Given the description of an element on the screen output the (x, y) to click on. 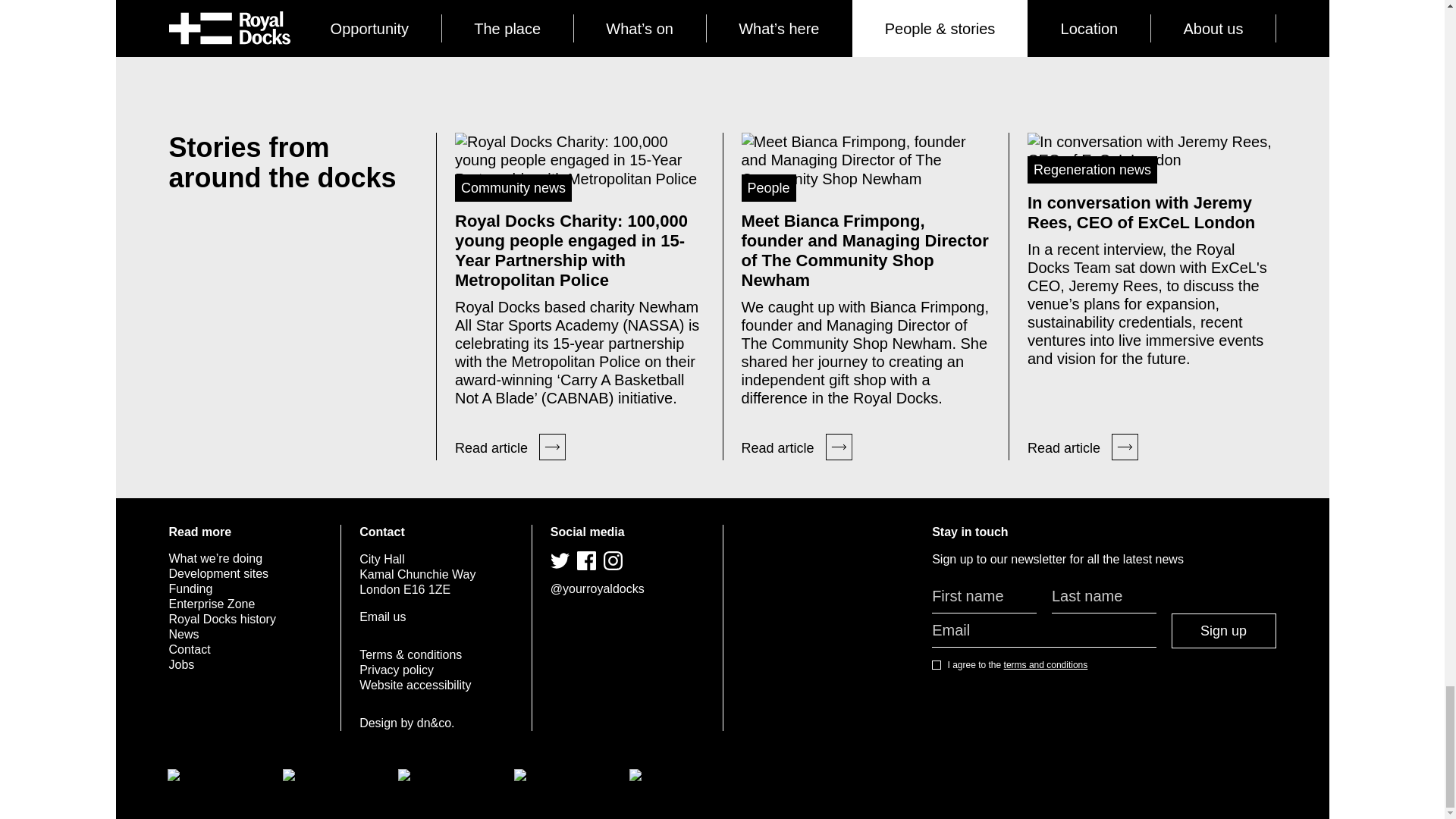
Development sites (217, 573)
Sign up (1224, 630)
terms and conditions (1045, 665)
